Given the description of an element on the screen output the (x, y) to click on. 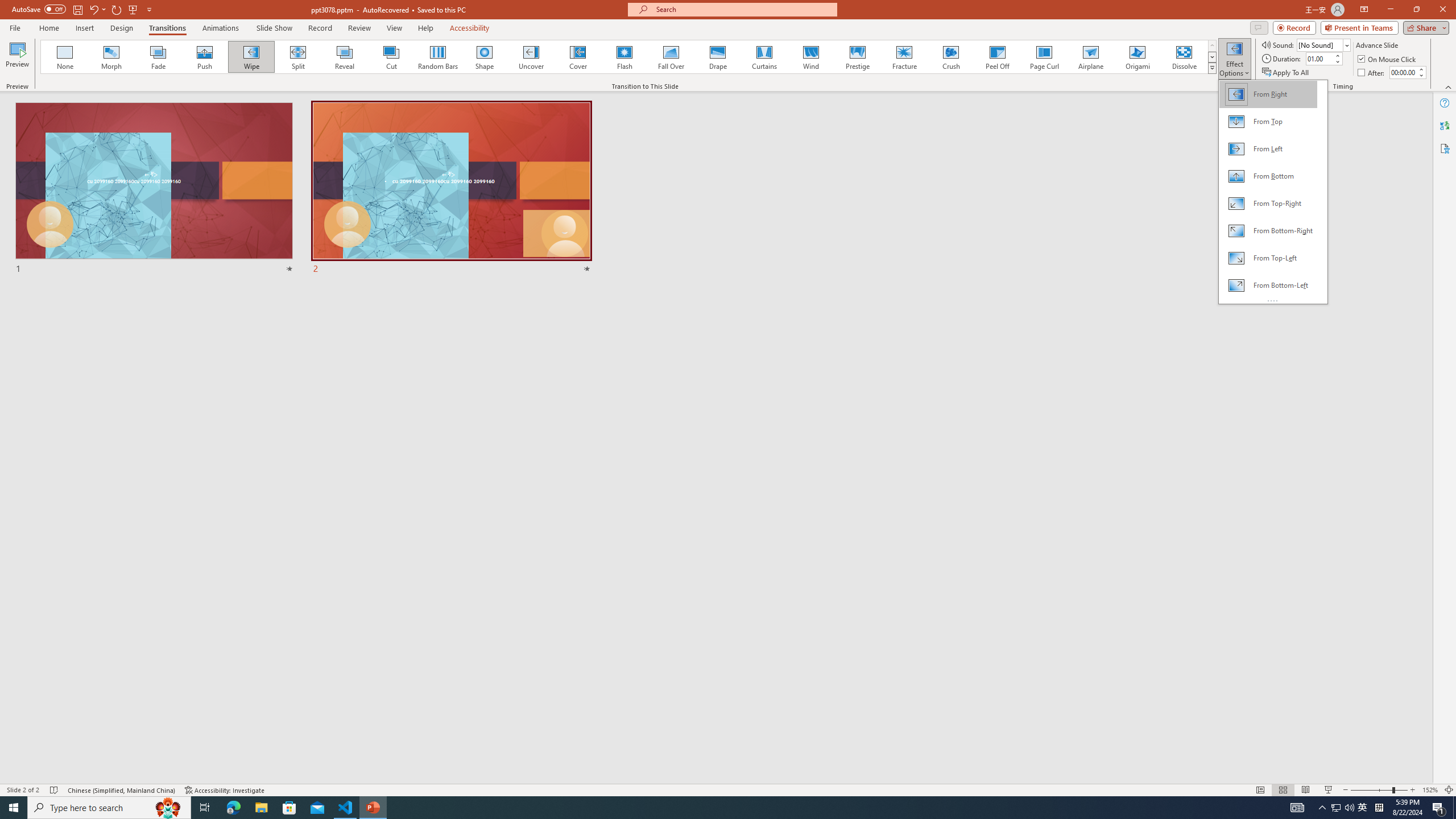
Uncover (531, 56)
Crush (950, 56)
Duration (1319, 58)
Apply To All (1286, 72)
Cover (577, 56)
